Given the description of an element on the screen output the (x, y) to click on. 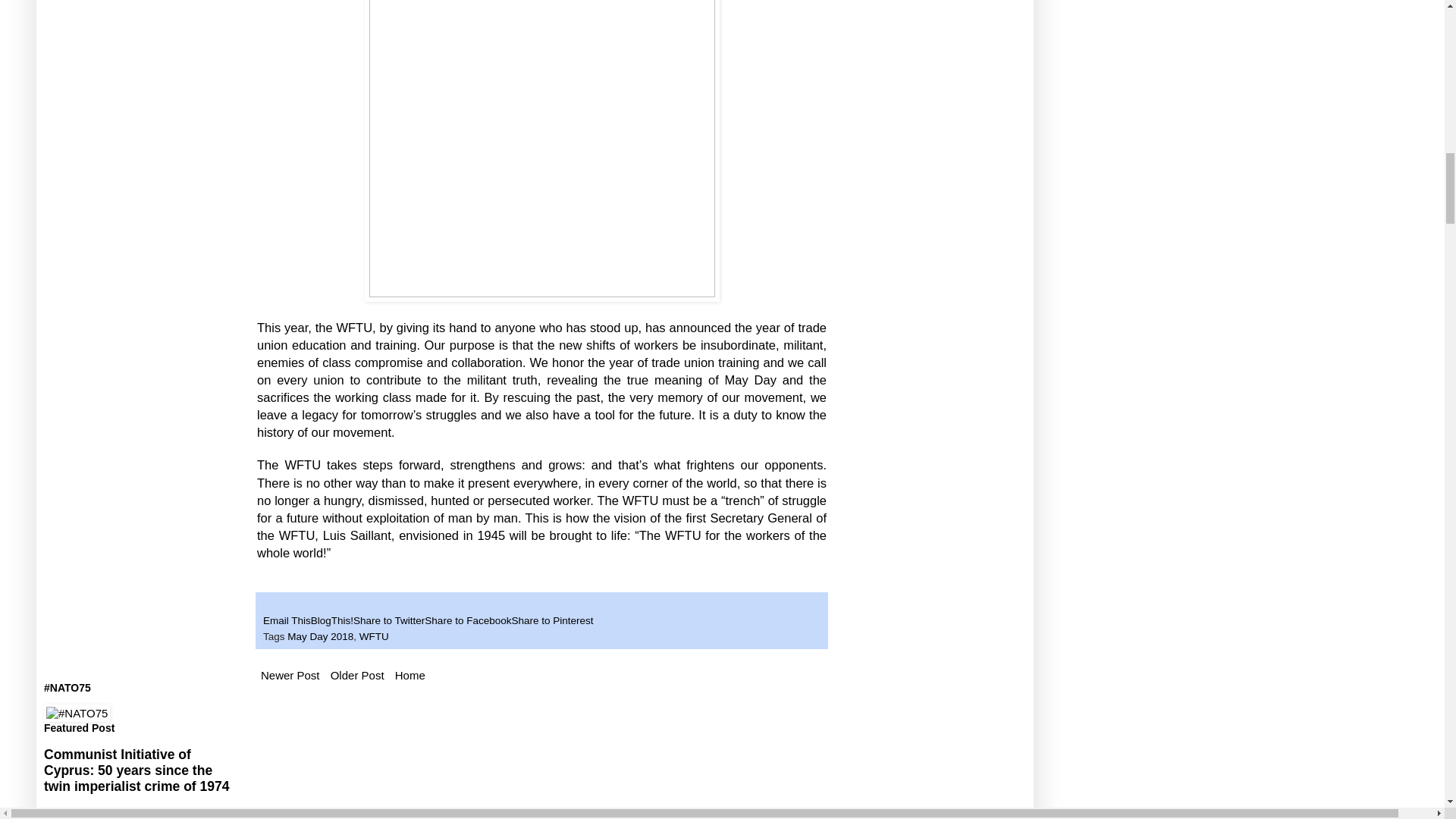
Older Post (357, 675)
Newer Post (290, 675)
Share to Twitter (389, 620)
Share to Pinterest (551, 620)
Older Post (357, 675)
Share to Facebook (468, 620)
May Day 2018 (319, 636)
Home (410, 675)
BlogThis! (332, 620)
Email This (287, 620)
WFTU (373, 636)
Share to Facebook (468, 620)
Share to Twitter (389, 620)
Email Post (269, 603)
